Given the description of an element on the screen output the (x, y) to click on. 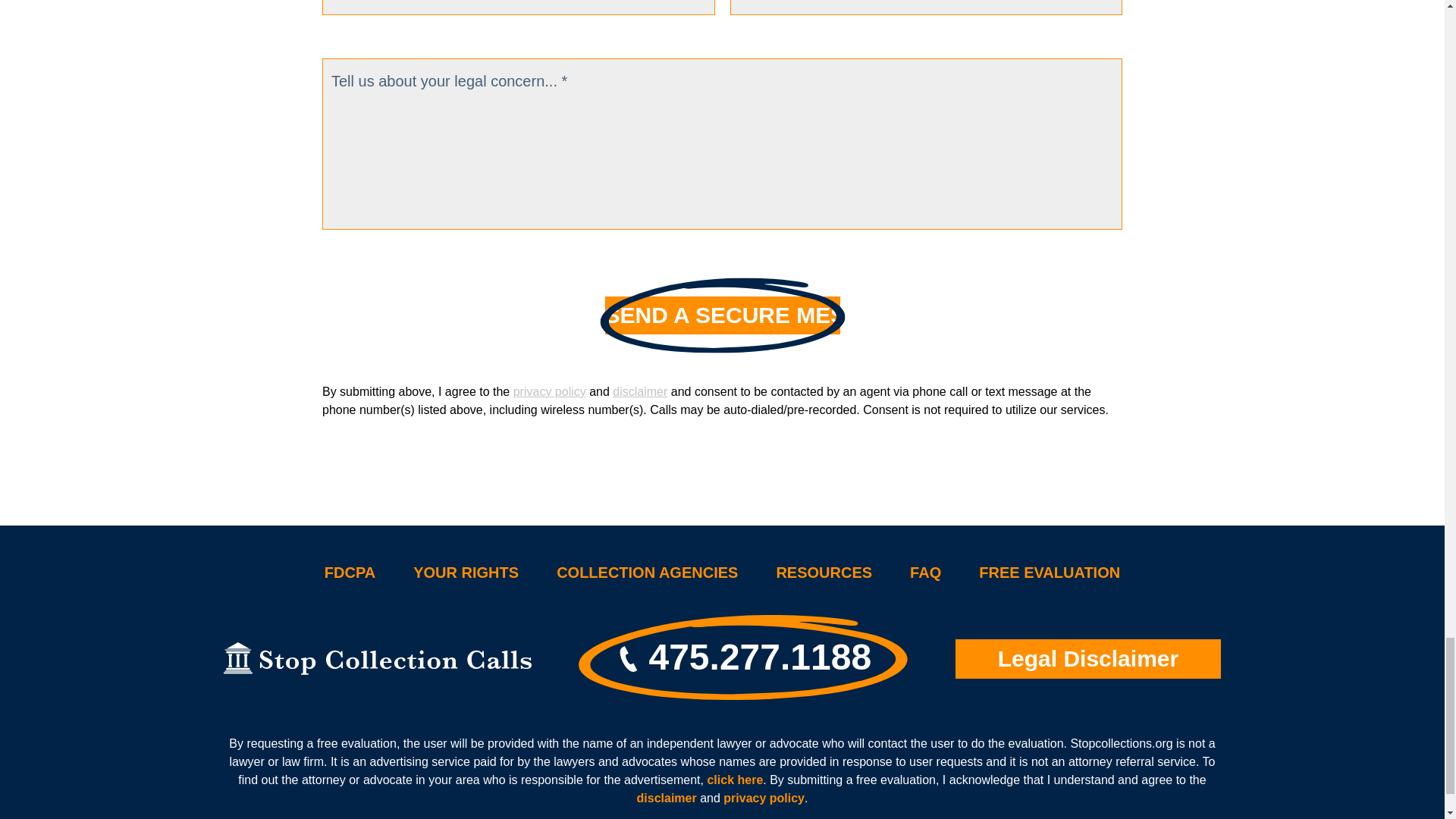
YOUR RIGHTS (465, 572)
475.277.1188 (743, 658)
FDCPA (349, 572)
COLLECTION AGENCIES (647, 572)
privacy policy (549, 391)
disclaimer (639, 391)
FREE EVALUATION (1048, 572)
FAQ (925, 572)
Send a Secure Message (722, 315)
Send a Secure Message (722, 315)
